Given the description of an element on the screen output the (x, y) to click on. 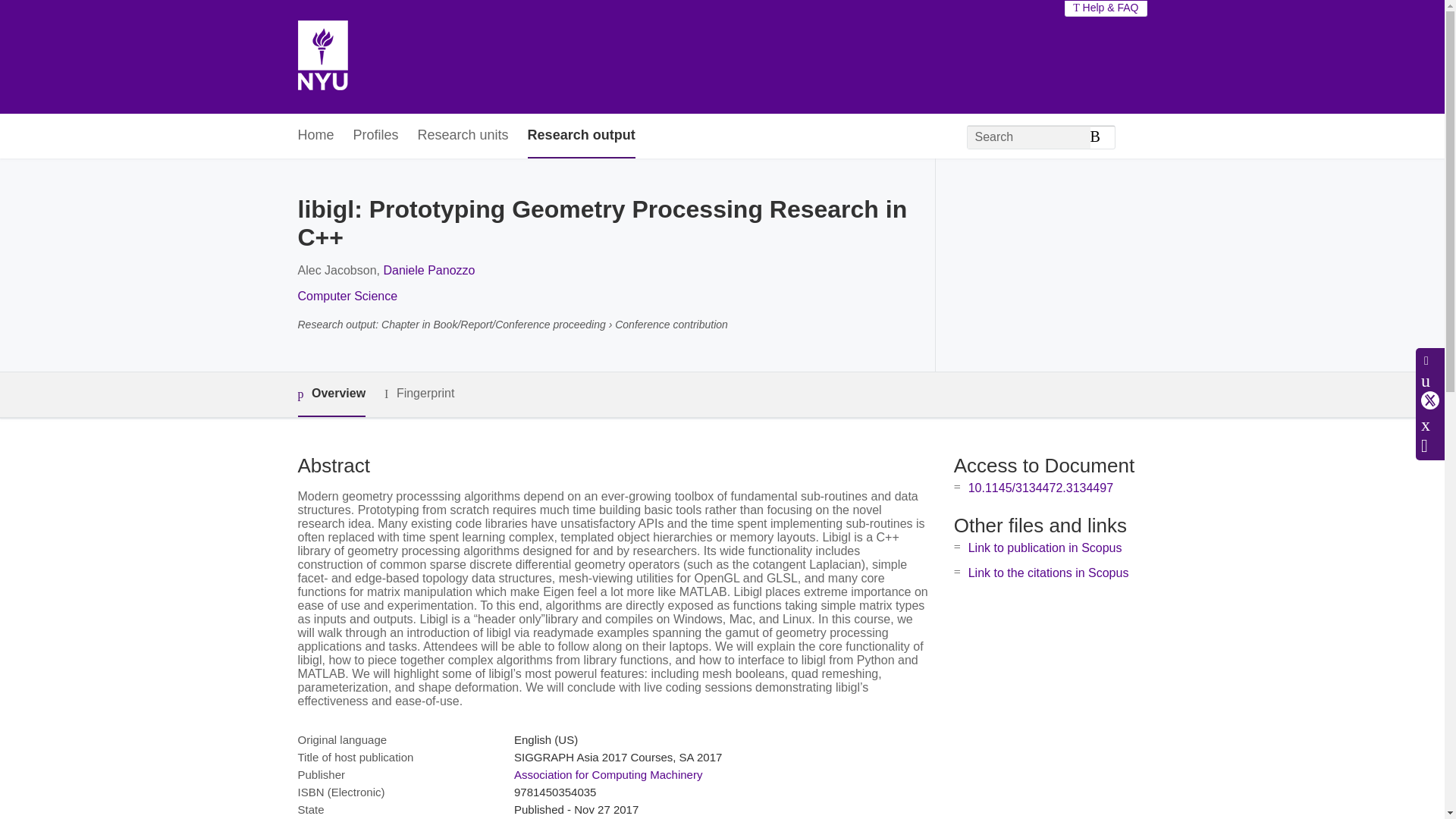
Daniele Panozzo (428, 269)
Research units (462, 135)
Link to publication in Scopus (1045, 547)
Fingerprint (419, 393)
Overview (331, 394)
Association for Computing Machinery (607, 774)
Computer Science (347, 295)
Research output (580, 135)
Profiles (375, 135)
